Given the description of an element on the screen output the (x, y) to click on. 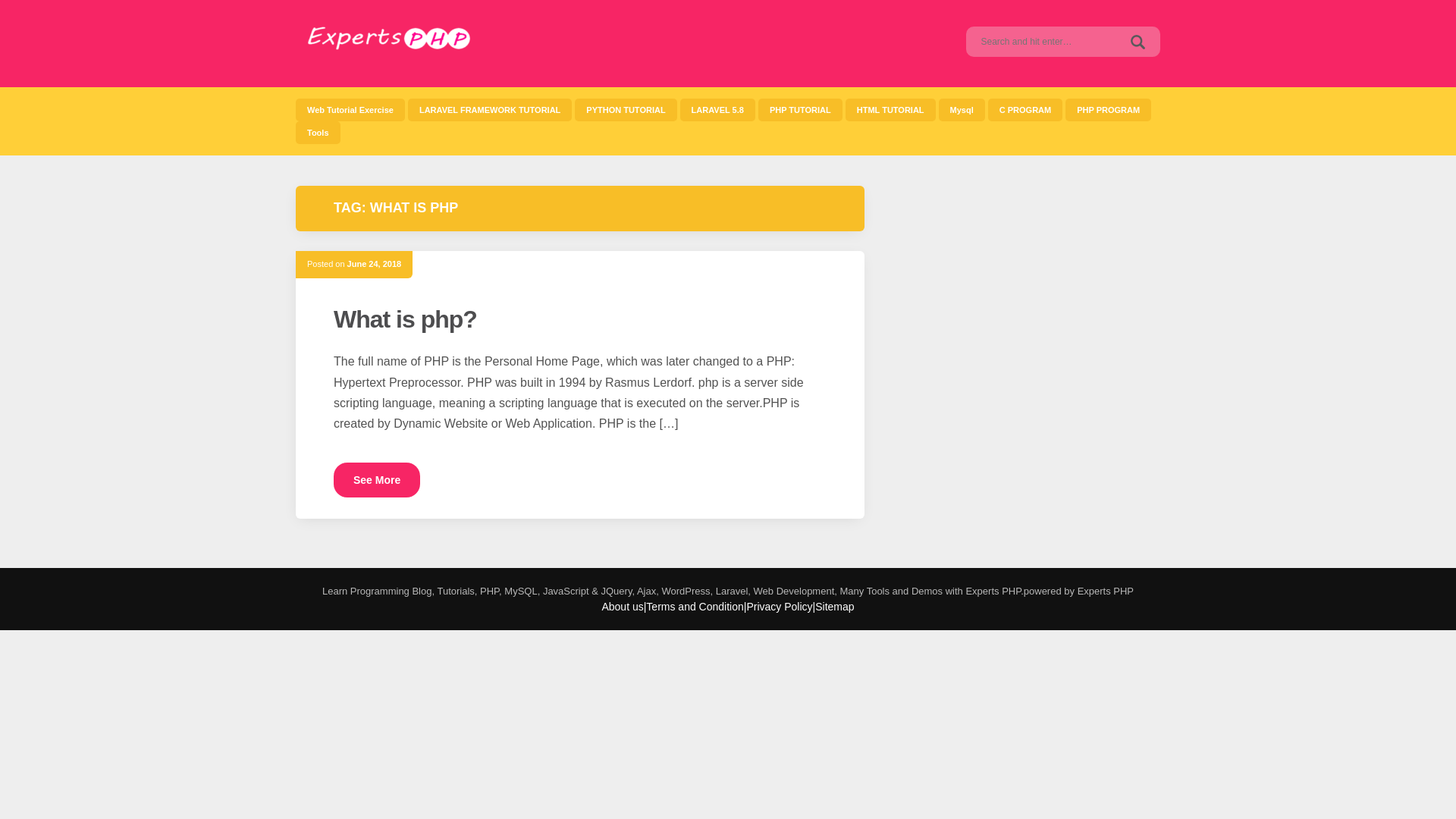
C PROGRAM (1025, 109)
Web Tutorial Exercise (349, 109)
C PROGRAM (1025, 109)
Search (1137, 41)
LARAVEL FRAMEWORK TUTORIAL (489, 109)
June 24, 2018 (374, 263)
About us (622, 606)
Terms and Condition (694, 606)
Sitemap (834, 606)
Privacy Policy (778, 606)
What is php? (405, 318)
LARAVEL 5.8 (717, 109)
LARAVEL 5.8 FRAMEWORK (717, 109)
Search (1137, 41)
PHP PROGRAM (317, 132)
